Given the description of an element on the screen output the (x, y) to click on. 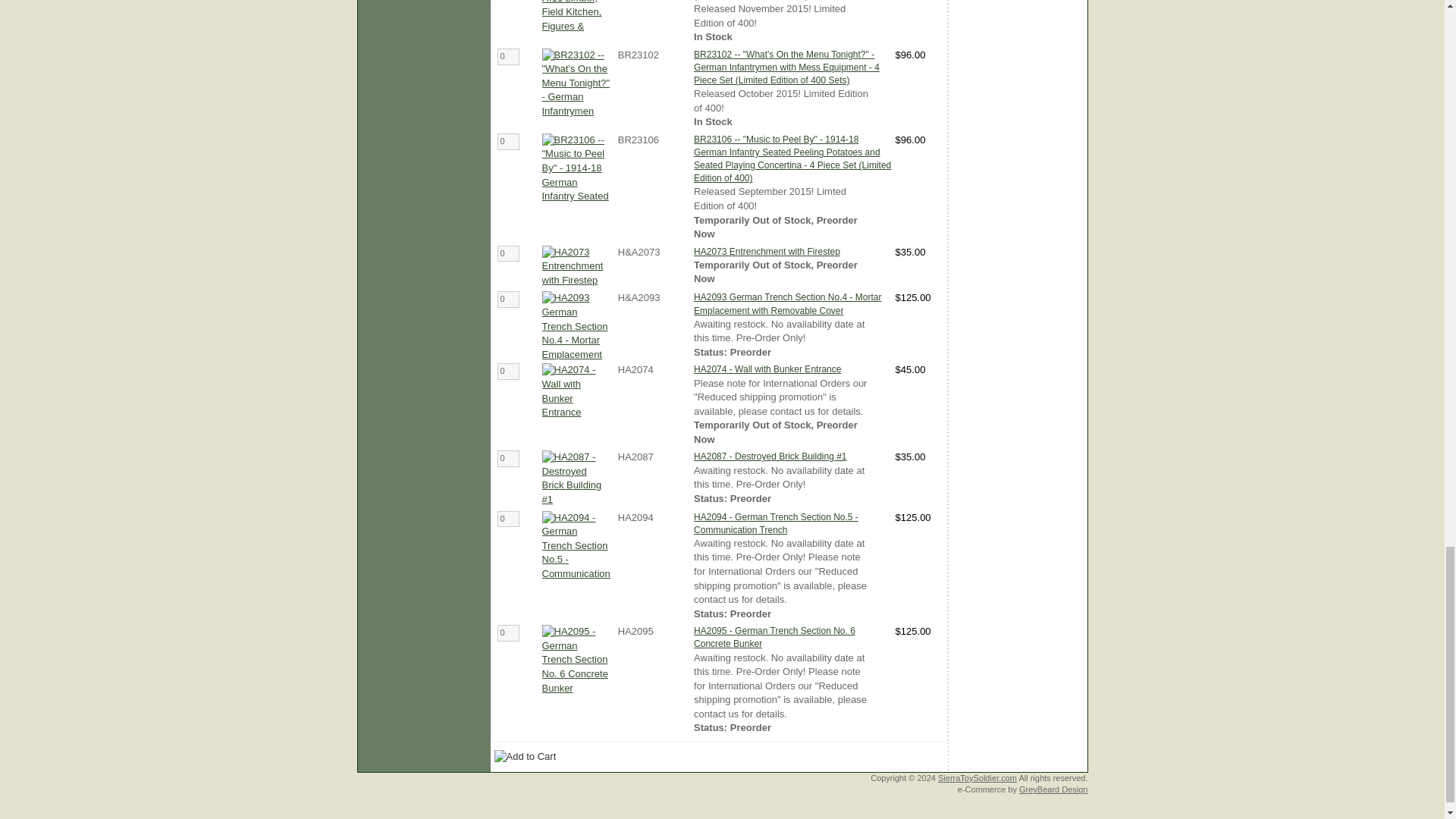
0 (508, 458)
0 (508, 299)
0 (508, 141)
0 (508, 371)
0 (508, 56)
0 (508, 519)
0 (508, 253)
